Given the description of an element on the screen output the (x, y) to click on. 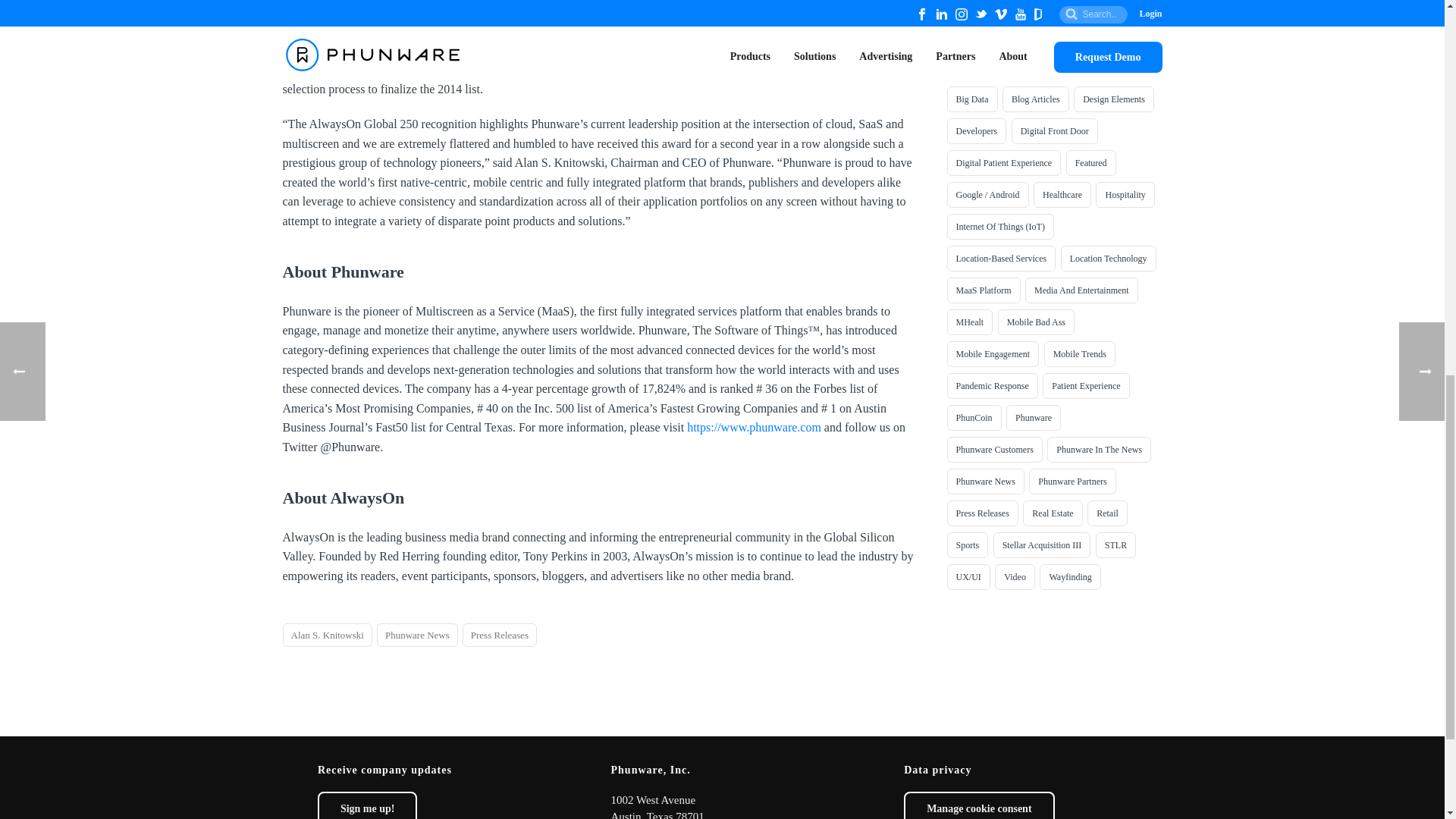
Sign me up! (367, 805)
